Given the description of an element on the screen output the (x, y) to click on. 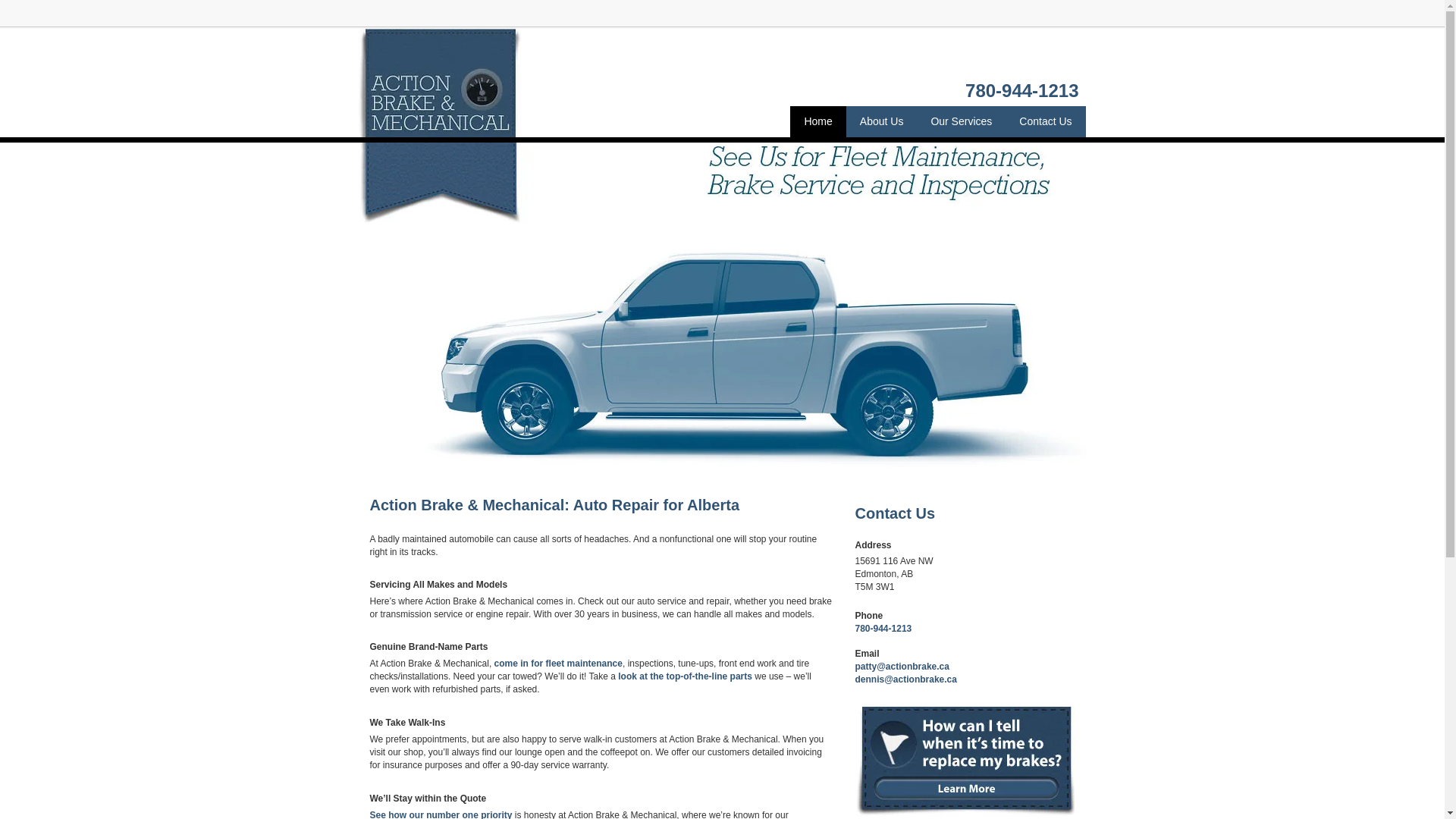
780-944-1213 Element type: text (1021, 94)
Embedded Content Element type: hover (994, 10)
Embedded Content Element type: hover (1012, 15)
780-944-1213 Element type: text (883, 628)
Embedded Content Element type: hover (1063, 19)
Home Element type: text (817, 121)
dennis@actionbrake.ca Element type: text (906, 679)
look at the top-of-the-line parts Element type: text (685, 676)
About Us Element type: text (881, 121)
come in for fleet maintenance Element type: text (558, 663)
Our Services Element type: text (960, 121)
Contact Us Element type: text (1045, 121)
patty@actionbrake.ca Element type: text (902, 666)
